Given the description of an element on the screen output the (x, y) to click on. 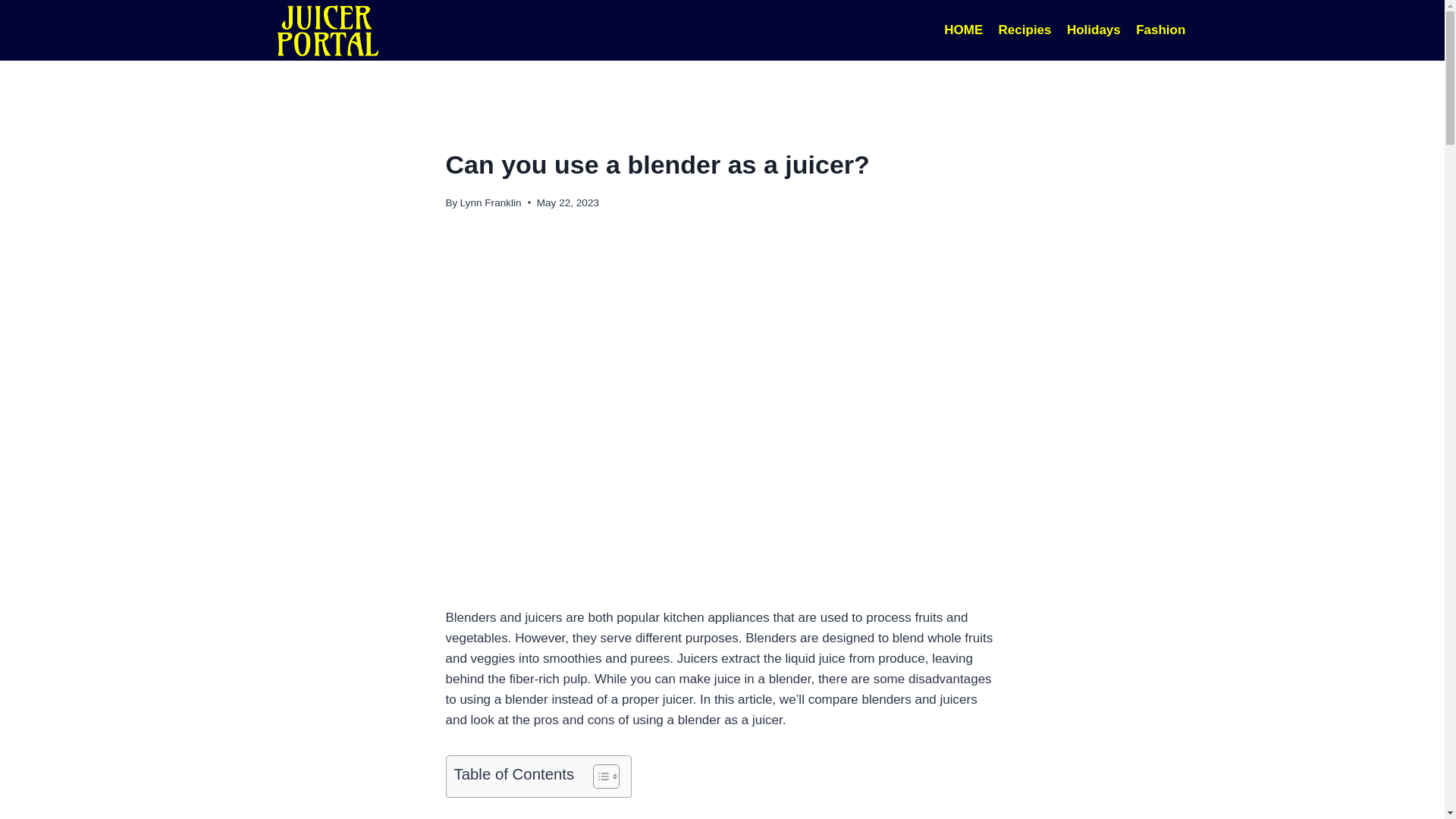
Recipies (1024, 30)
HOME (963, 30)
Holidays (1093, 30)
Fashion (1160, 30)
Lynn Franklin (490, 202)
